Given the description of an element on the screen output the (x, y) to click on. 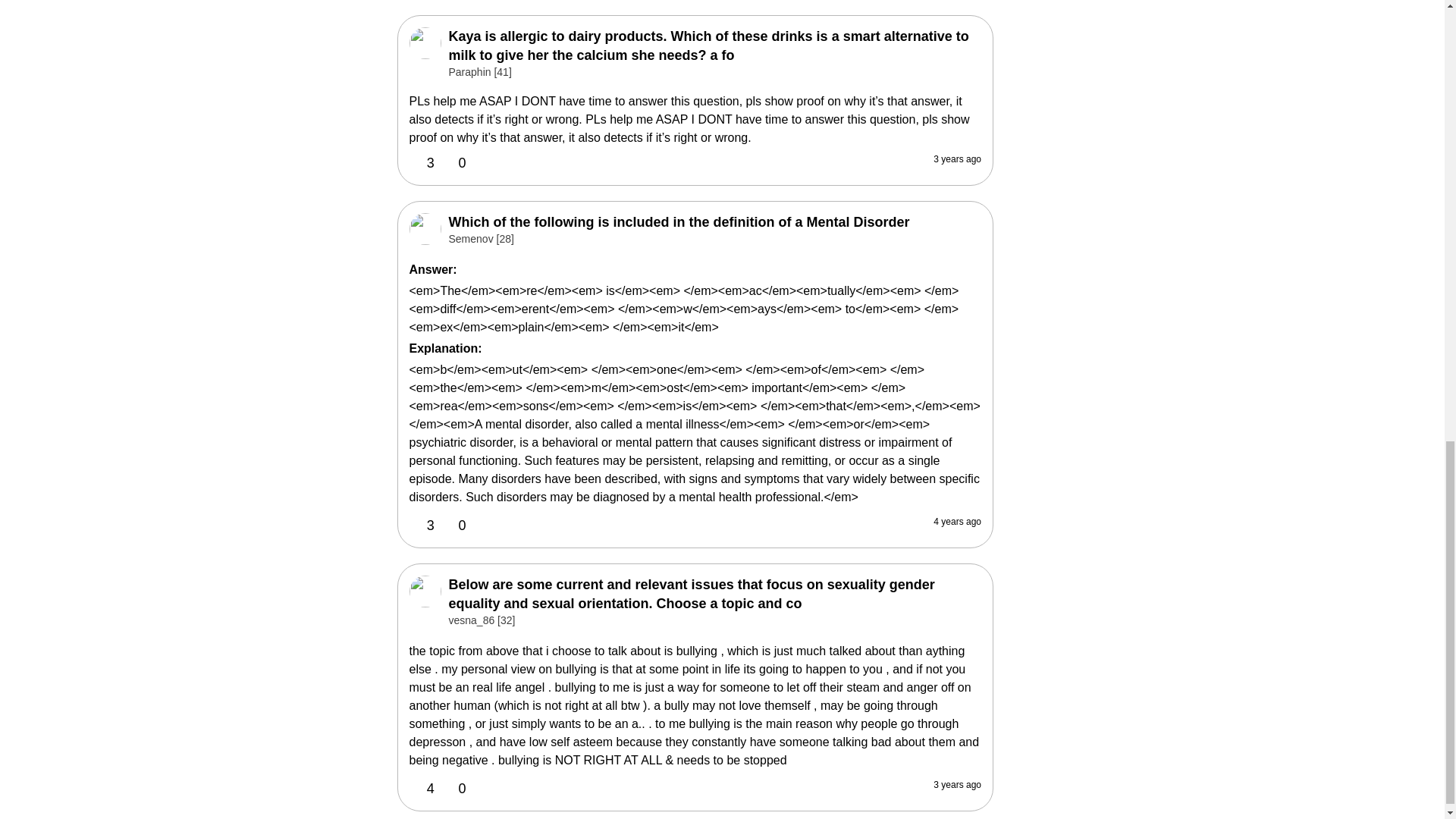
2020-08-13 05:34:26 (957, 520)
2021-07-03 21:44:28 (957, 158)
2020-12-13 19:38:51 (957, 784)
